Given the description of an element on the screen output the (x, y) to click on. 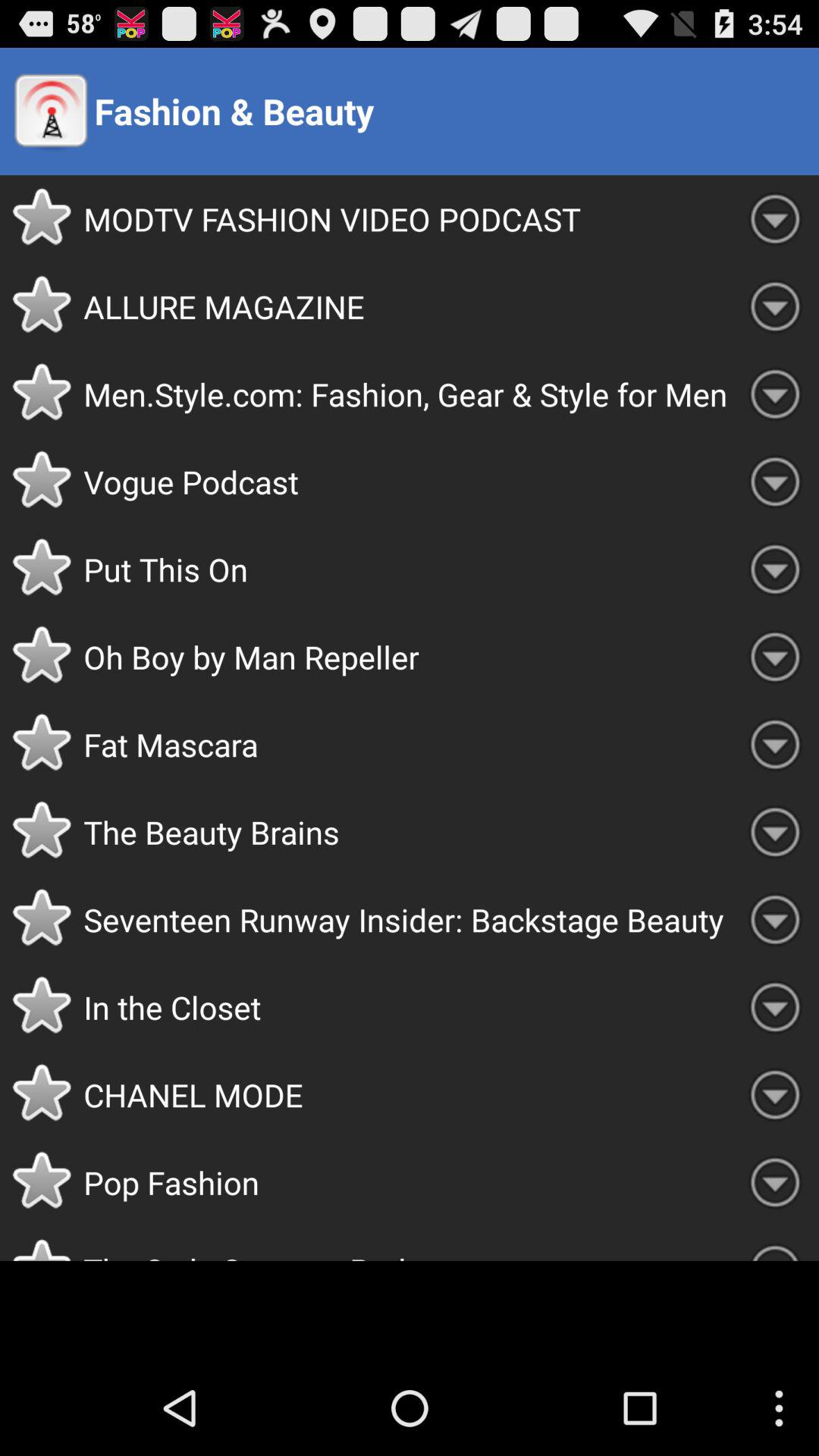
open icon below the in the closet icon (407, 1094)
